Given the description of an element on the screen output the (x, y) to click on. 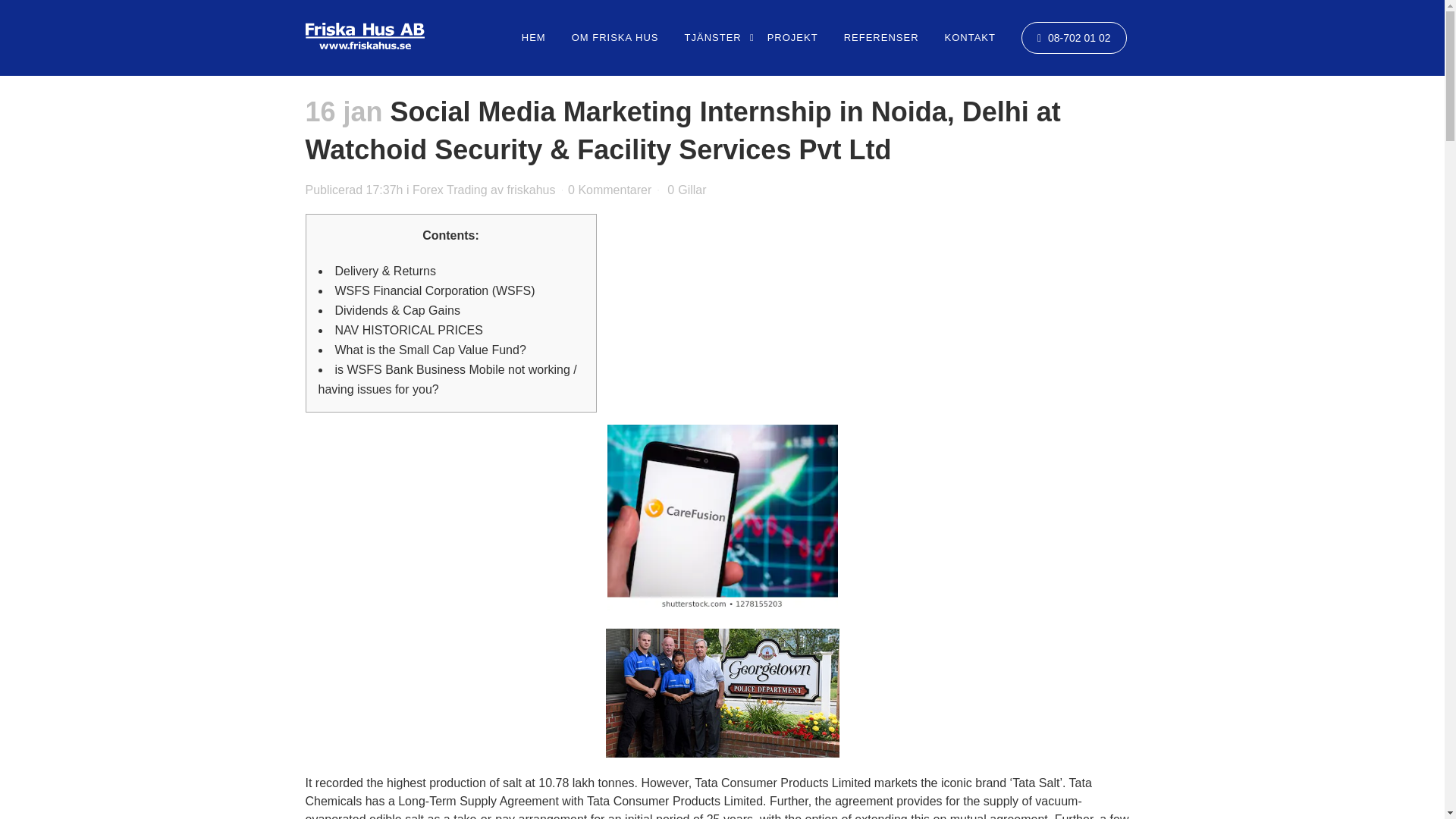
08-702 01 02 (1074, 38)
REFERENSER (881, 38)
OM FRISKA HUS (615, 38)
KONTAKT (970, 38)
Gilla detta (686, 190)
What is the Small Cap Value Fund? (429, 349)
0 Kommentarer (608, 189)
PROJEKT (792, 38)
0 Gillar (686, 190)
Forex Trading (449, 189)
friskahus (530, 189)
NAV HISTORICAL PRICES (408, 329)
